Given the description of an element on the screen output the (x, y) to click on. 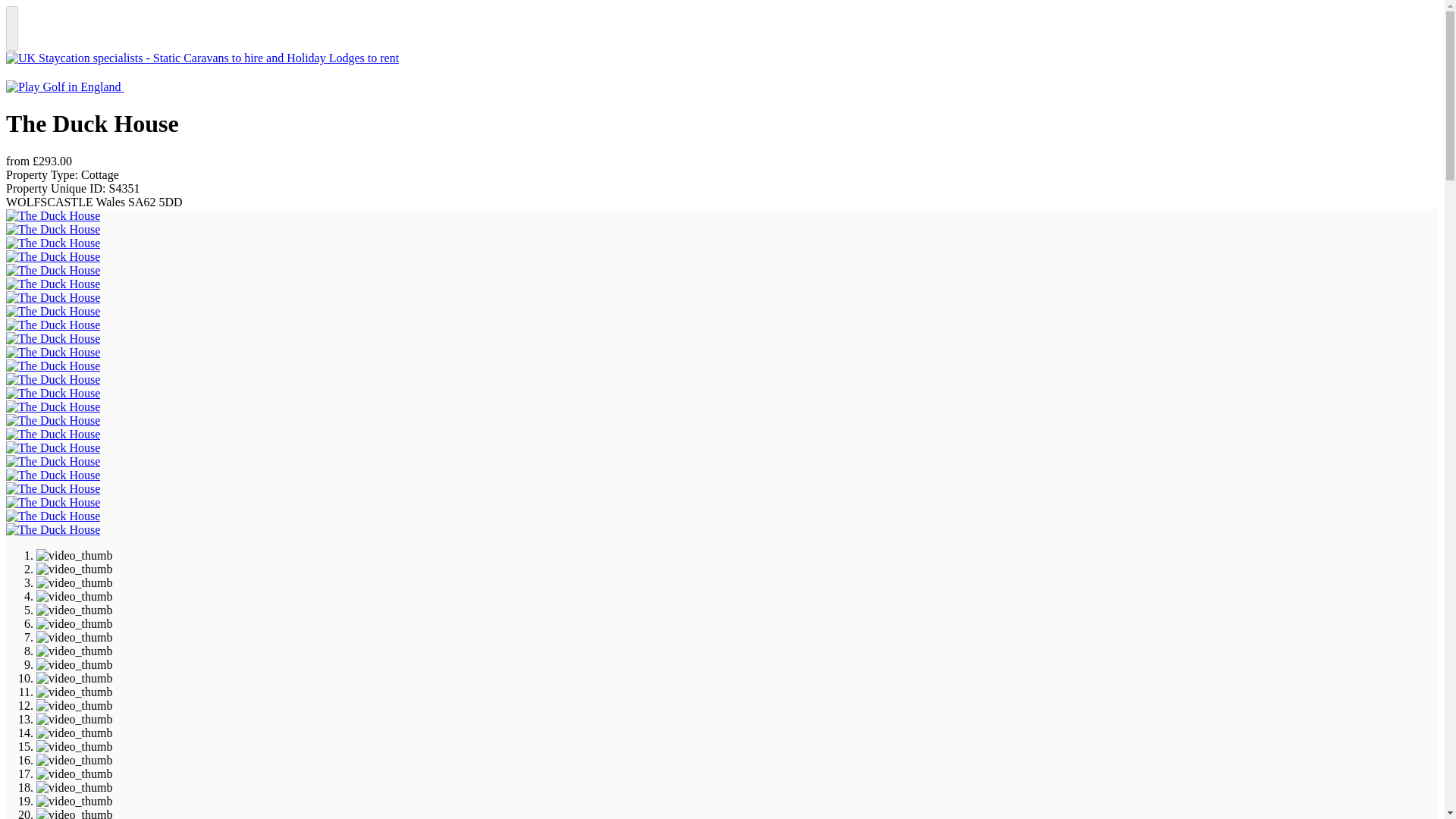
Play Golf in England (62, 87)
